Given the description of an element on the screen output the (x, y) to click on. 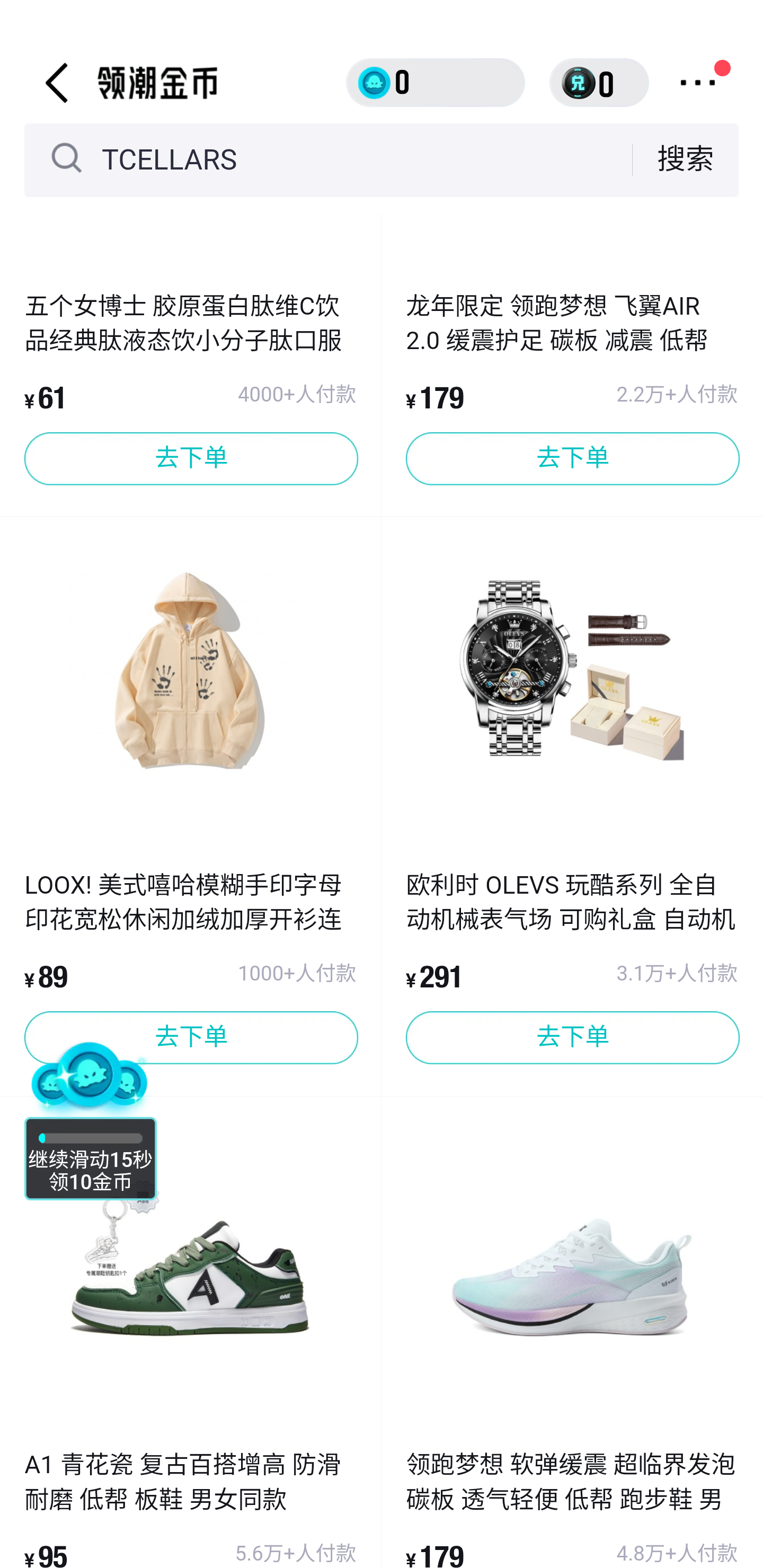
搜索 (685, 159)
去下单 (190, 458)
去下单 (572, 458)
去下单 (190, 1037)
去下单 (572, 1037)
A1 青花瓷 复古百搭增高 防滑耐磨 低帮 板鞋 男女同款 ¥ 95 5.6万+人付款 (190, 1507)
